Given the description of an element on the screen output the (x, y) to click on. 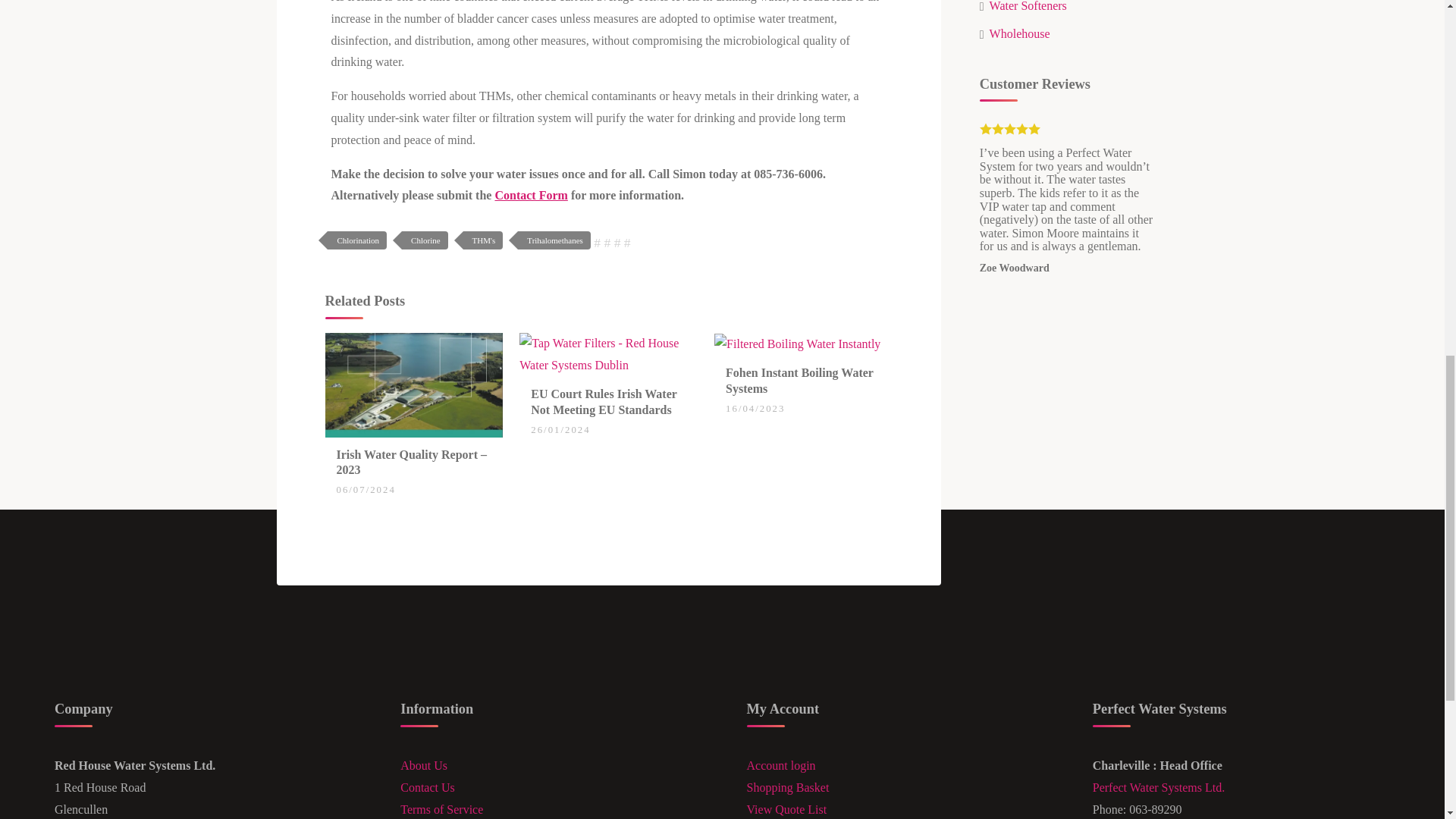
EU Court Rules Irish Water Not Meeting EU Standards (604, 401)
EU Court Rules Irish Water Not Meeting EU Standards (608, 353)
Fohen Instant Boiling Water Systems (797, 342)
Fohen Instant Boiling Water Systems (799, 380)
